Given the description of an element on the screen output the (x, y) to click on. 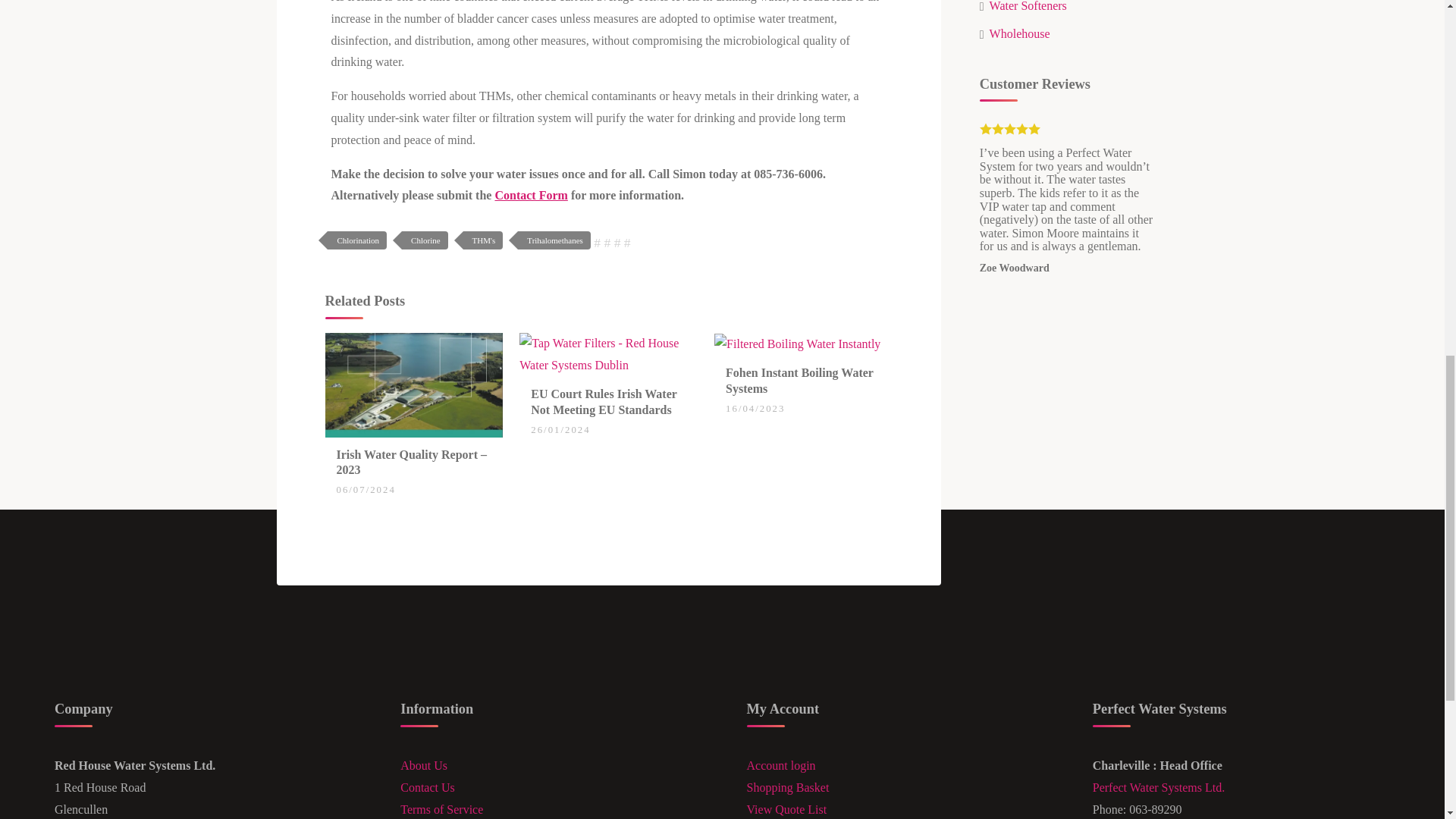
EU Court Rules Irish Water Not Meeting EU Standards (604, 401)
EU Court Rules Irish Water Not Meeting EU Standards (608, 353)
Fohen Instant Boiling Water Systems (797, 342)
Fohen Instant Boiling Water Systems (799, 380)
